Given the description of an element on the screen output the (x, y) to click on. 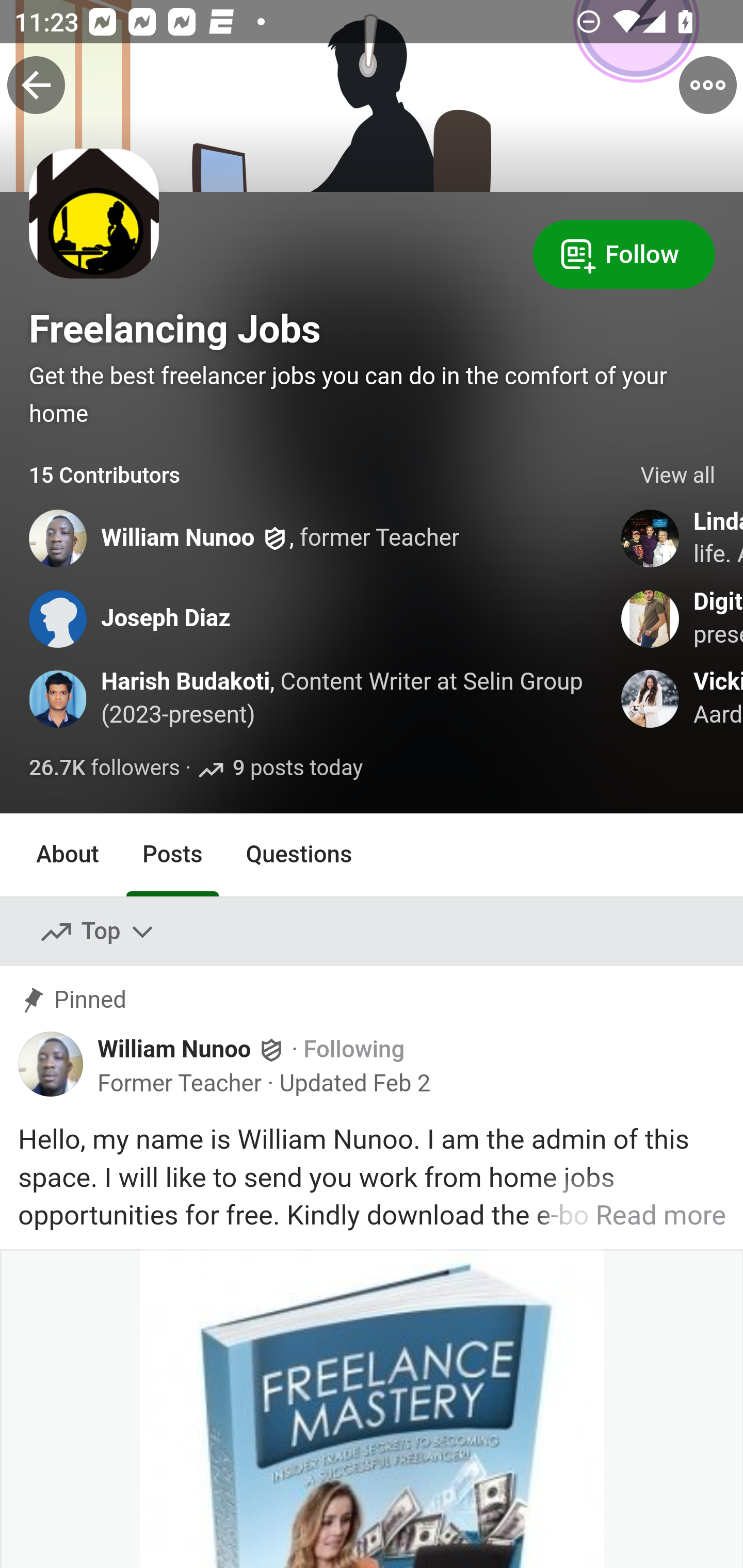
Follow (623, 252)
Freelancing Jobs (174, 329)
View all (677, 475)
Profile photo for William Nunoo (58, 538)
Profile photo for Linda Lewis (650, 538)
William Nunoo (178, 539)
Profile photo for Joseph Diaz (58, 617)
Profile photo for Digital Hamid (650, 617)
Joseph Diaz (166, 618)
Harish Budakoti (186, 682)
Profile photo for Harish Budakoti (58, 699)
Profile photo for Vickie Bellefontaine (650, 699)
26.7K followers (104, 768)
About (68, 854)
Posts (171, 854)
Questions (299, 854)
Top (97, 931)
Profile photo for William Nunoo (50, 1063)
William Nunoo William Nunoo   (191, 1049)
Following (354, 1051)
